Given the description of an element on the screen output the (x, y) to click on. 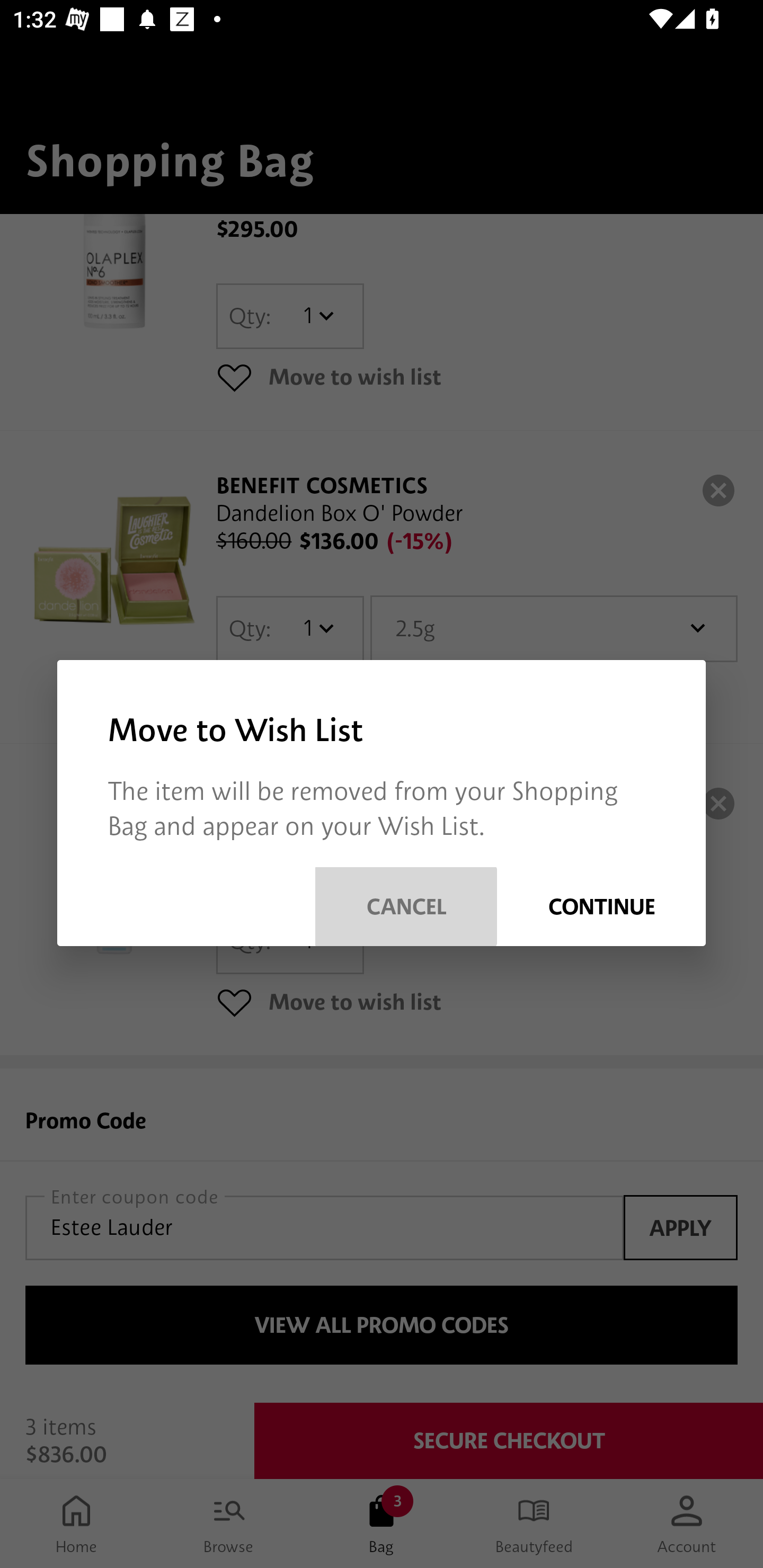
CANCEL (405, 906)
CONTINUE (600, 906)
